Given the description of an element on the screen output the (x, y) to click on. 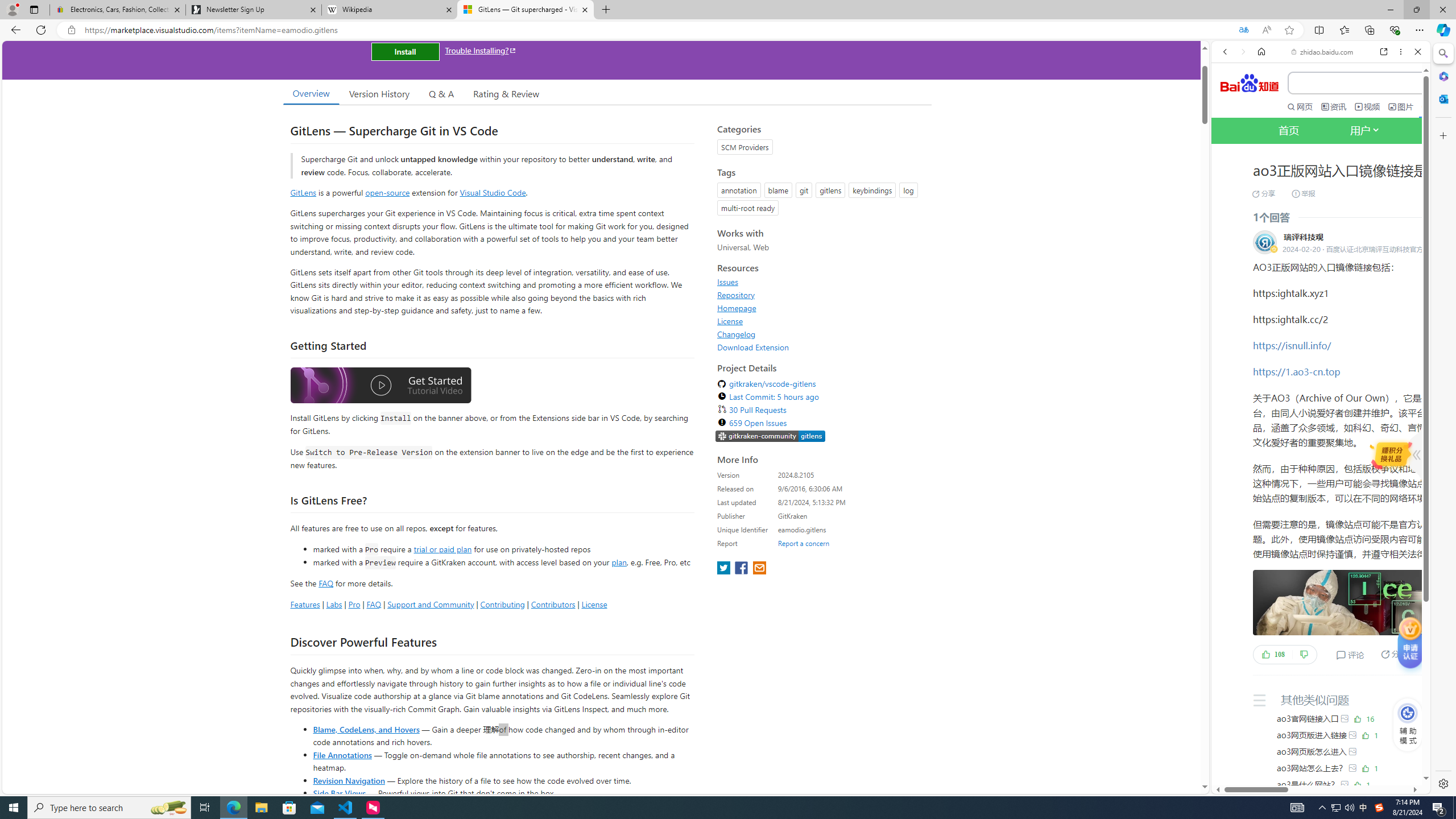
Back (1225, 51)
Changelog (736, 333)
Customize (1442, 135)
Overview (310, 92)
Search Filter, VIDEOS (1300, 192)
Visual Studio Code (492, 192)
License (820, 320)
Collections (1369, 29)
